Given the description of an element on the screen output the (x, y) to click on. 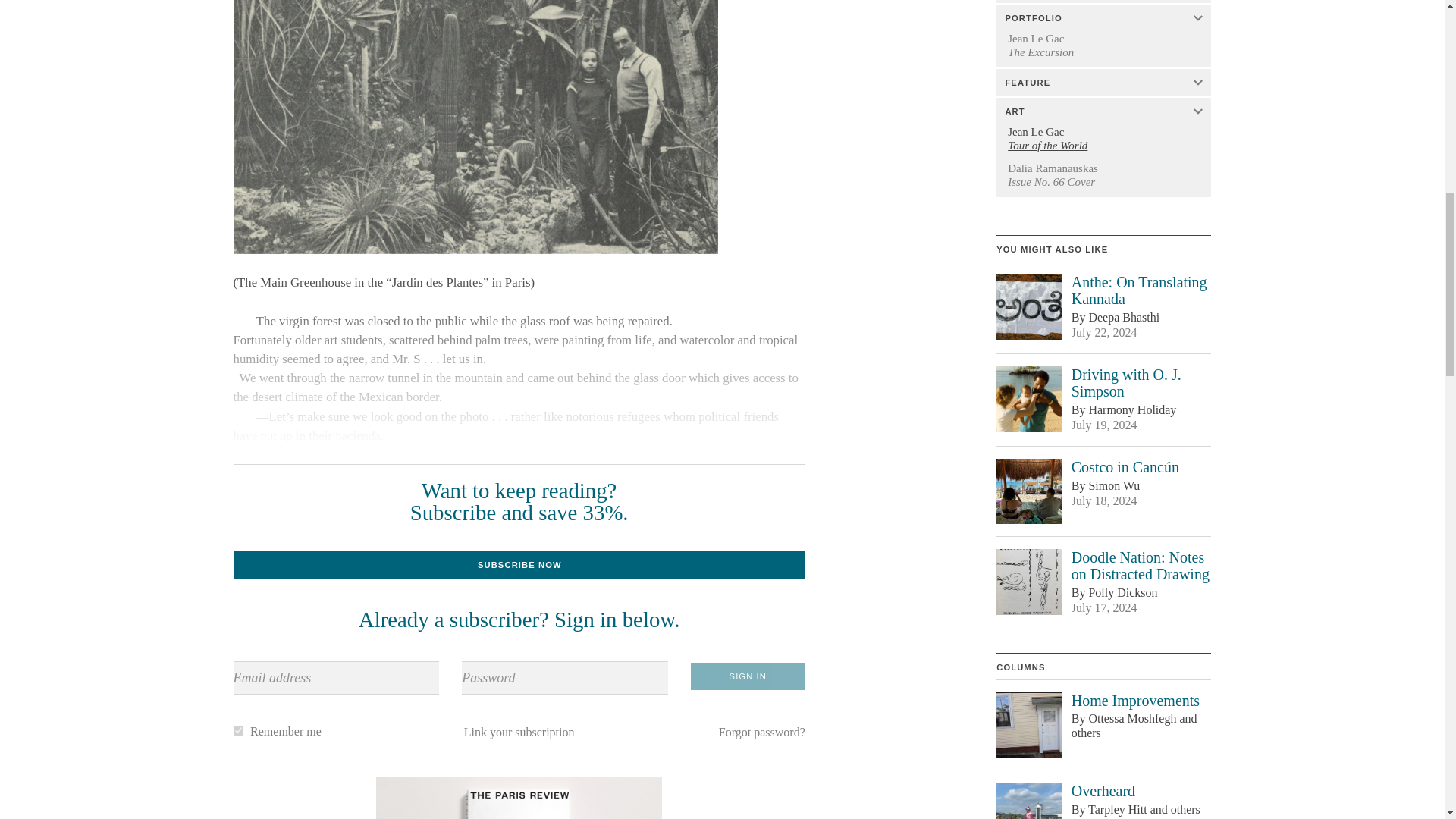
remember (237, 730)
Sign In (747, 676)
